Given the description of an element on the screen output the (x, y) to click on. 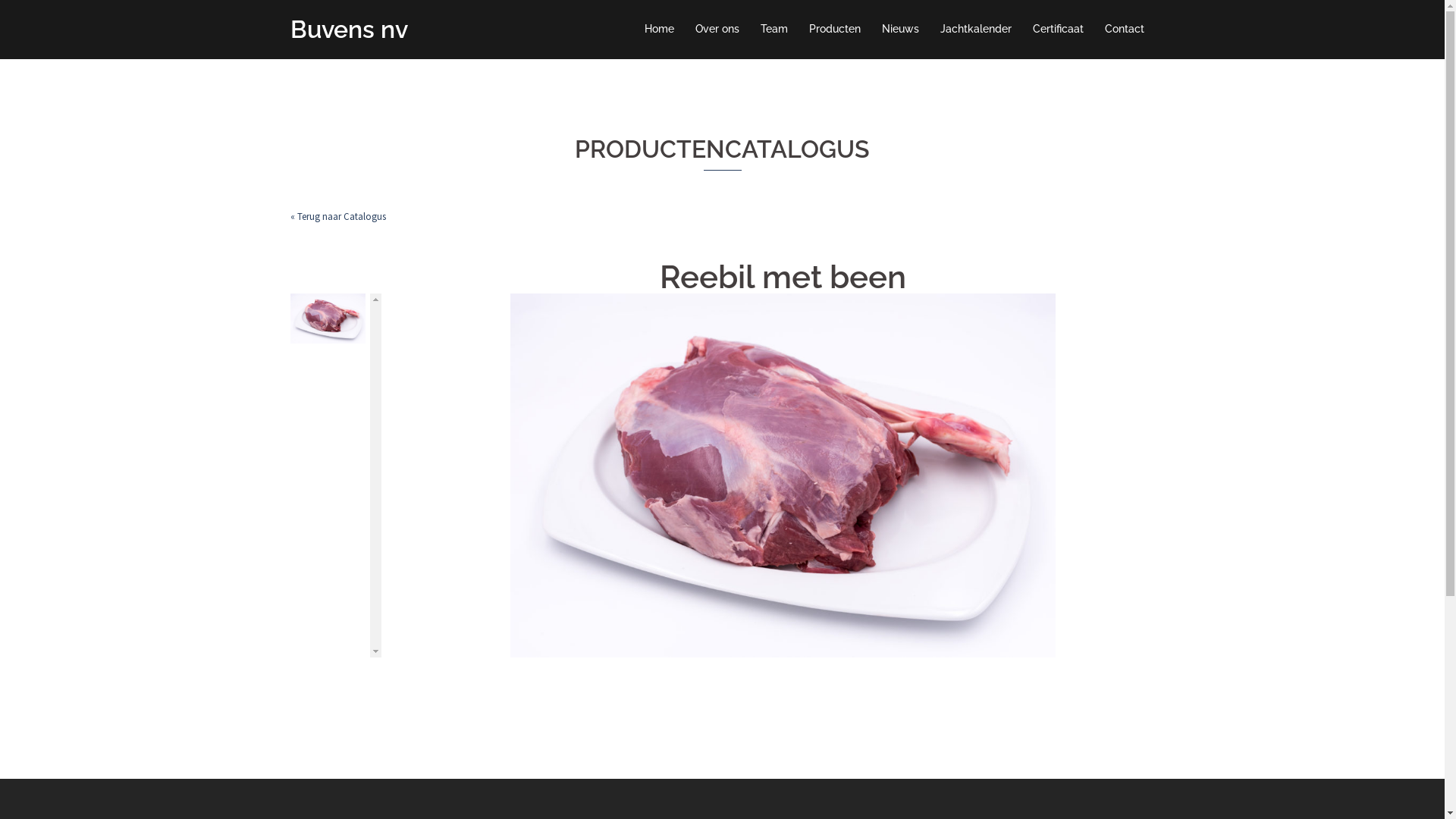
Certificaat Element type: text (1057, 29)
Producten Element type: text (833, 29)
Buvens nv Element type: text (348, 29)
Nieuws Element type: text (899, 29)
Jachtkalender Element type: text (975, 29)
Spring naar inhoud Element type: text (0, 0)
Team Element type: text (773, 29)
Home Element type: text (659, 29)
Over ons Element type: text (716, 29)
Contact Element type: text (1123, 29)
